Given the description of an element on the screen output the (x, y) to click on. 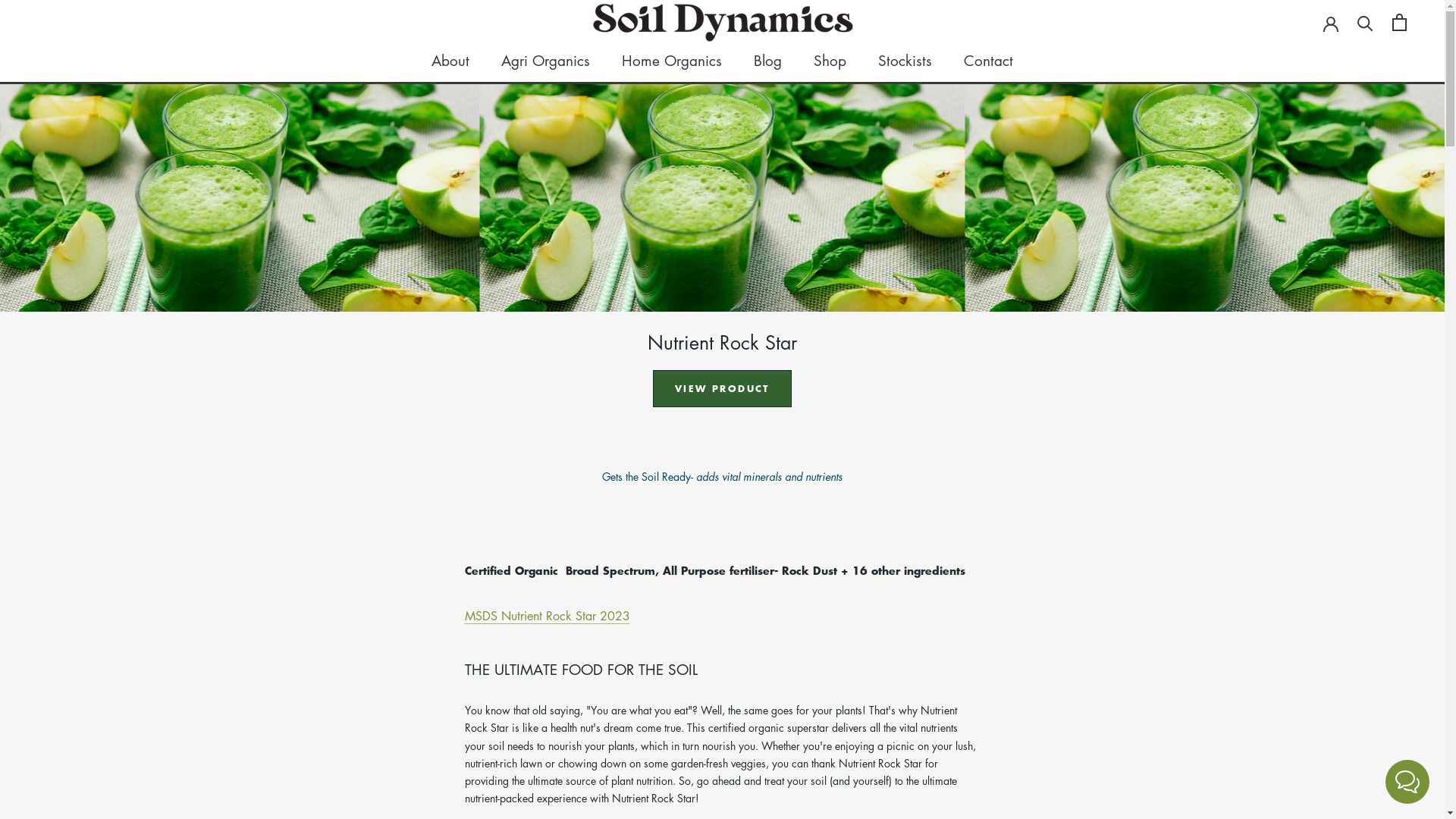
VIEW PRODUCT Element type: text (721, 388)
Blog
Blog Element type: text (767, 60)
About Element type: text (450, 60)
Home Organics Element type: text (671, 60)
Contact
Contact Element type: text (988, 60)
Agri Organics Element type: text (545, 60)
Stockists
Stockists Element type: text (904, 60)
Shop Element type: text (829, 60)
MSDS Nutrient Rock Star 2023 Element type: text (546, 615)
